Given the description of an element on the screen output the (x, y) to click on. 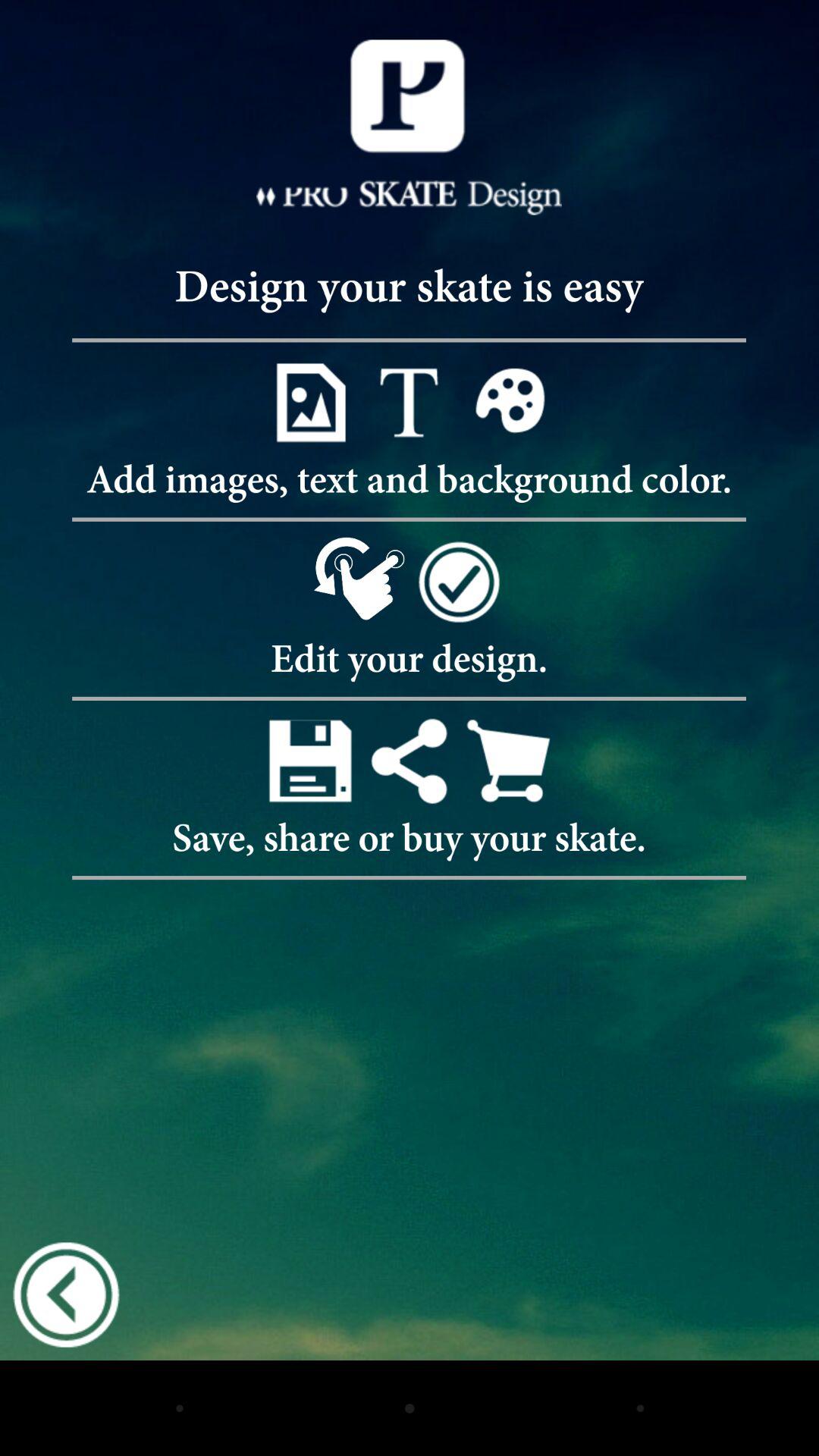
option select (408, 402)
